Given the description of an element on the screen output the (x, y) to click on. 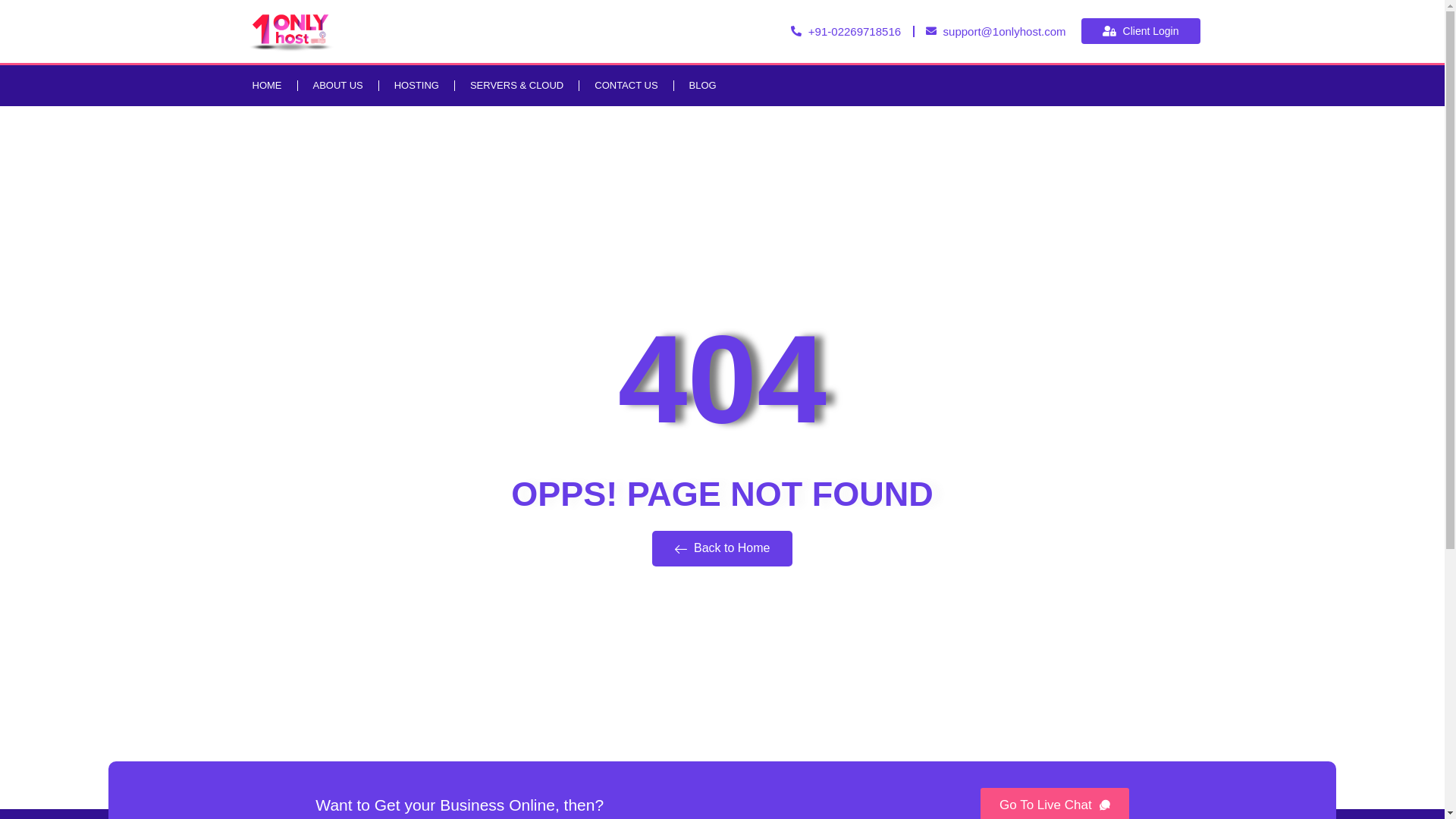
HOSTING Element type: text (416, 85)
Client Login Element type: text (1140, 30)
Back to Home Element type: text (722, 548)
CONTACT US Element type: text (625, 85)
support@1onlyhost.com Element type: text (995, 31)
+91-02269718516 Element type: text (845, 31)
SERVERS & CLOUD Element type: text (516, 85)
BLOG Element type: text (702, 85)
HOME Element type: text (266, 85)
ABOUT US Element type: text (337, 85)
